Given the description of an element on the screen output the (x, y) to click on. 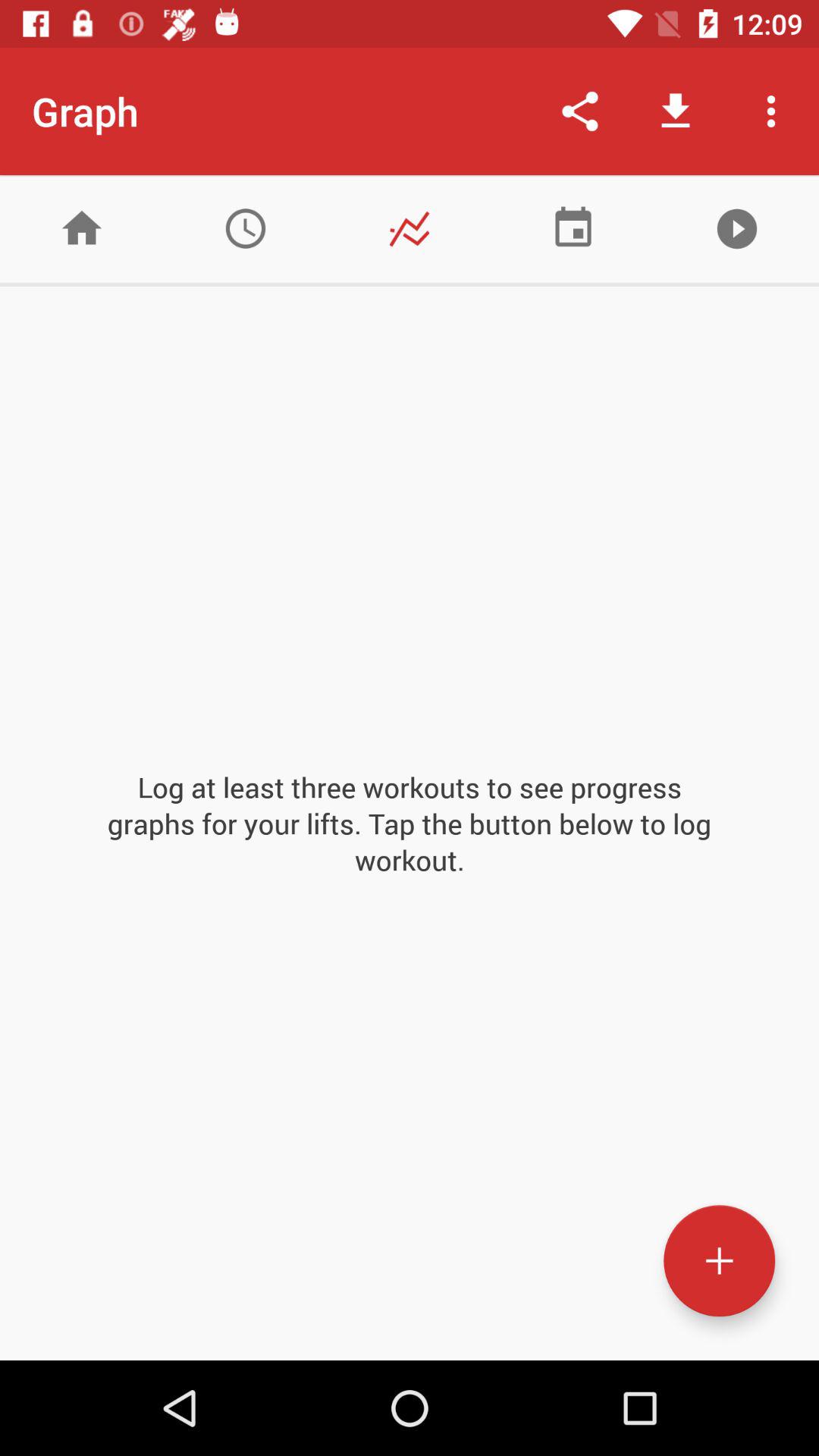
add workout progress (719, 1260)
